Given the description of an element on the screen output the (x, y) to click on. 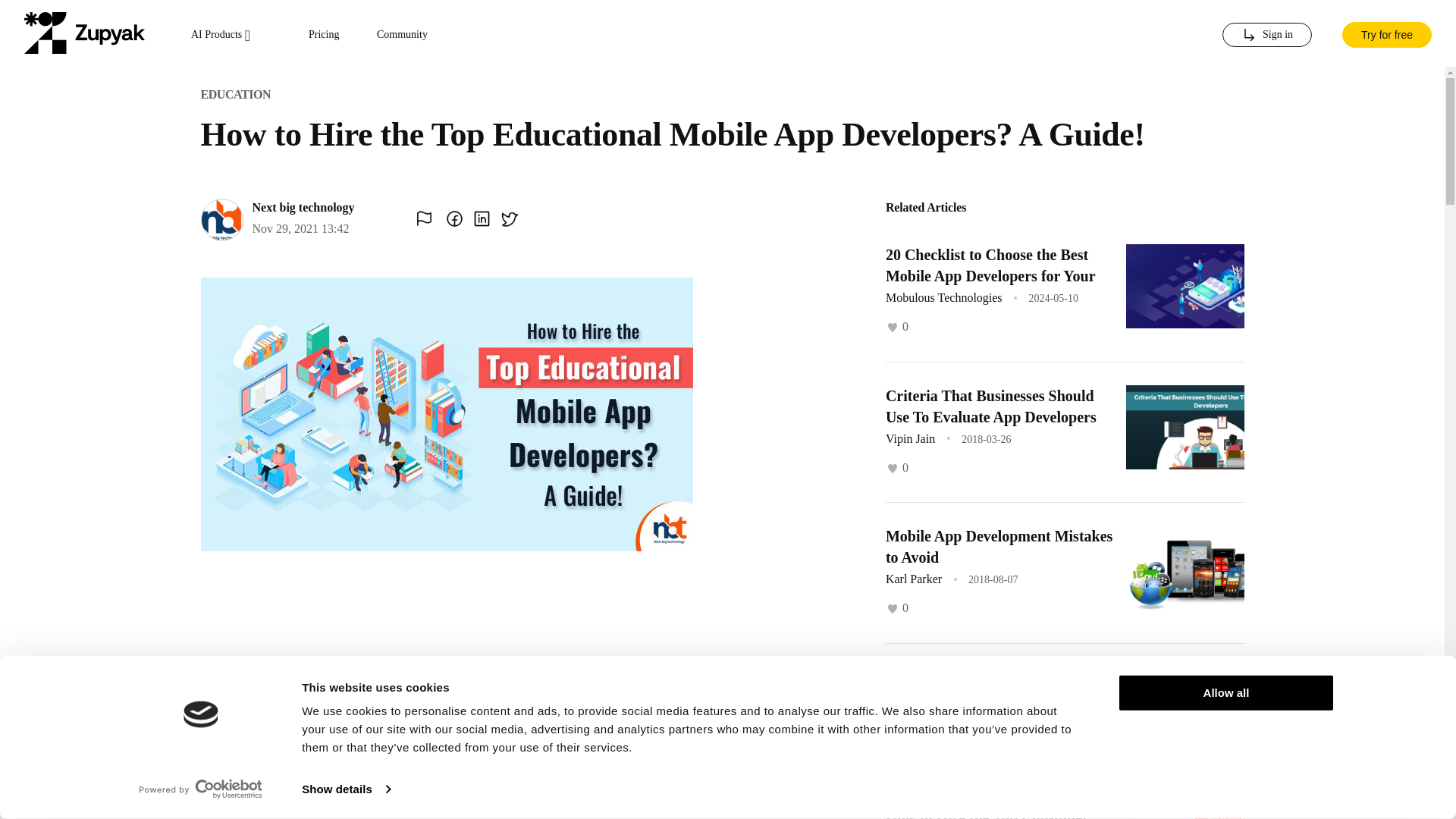
What does Mobile App Developers Do? (997, 687)
Show details (345, 789)
Mobile App Development Mistakes to Avoid (998, 546)
